Given the description of an element on the screen output the (x, y) to click on. 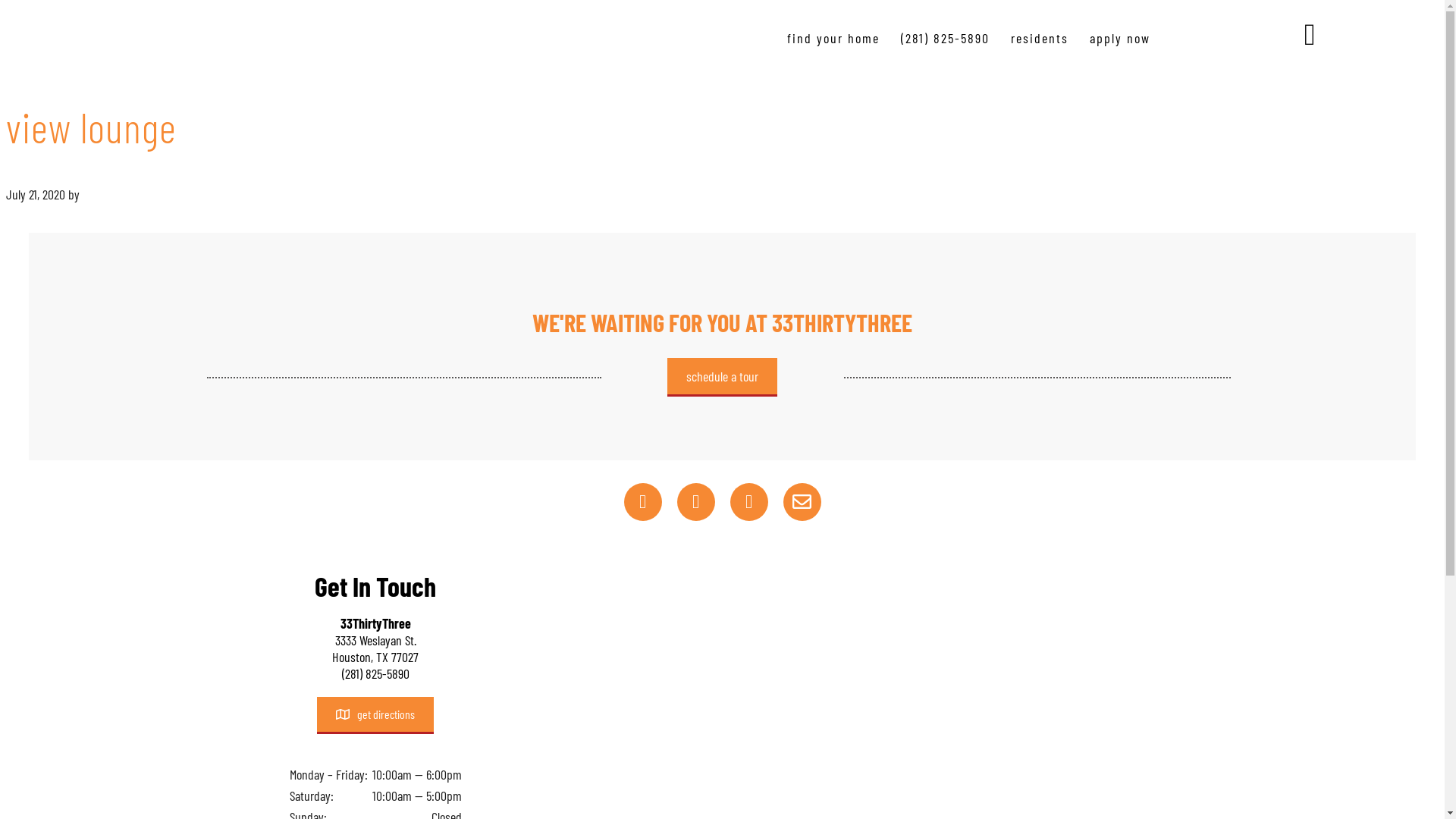
find your home Element type: text (833, 37)
apply now Element type: text (1119, 37)
residents Element type: text (1039, 37)
(281) 825-5890 Element type: text (944, 37)
get directions Element type: text (374, 715)
schedule a tour Element type: text (722, 376)
